Given the description of an element on the screen output the (x, y) to click on. 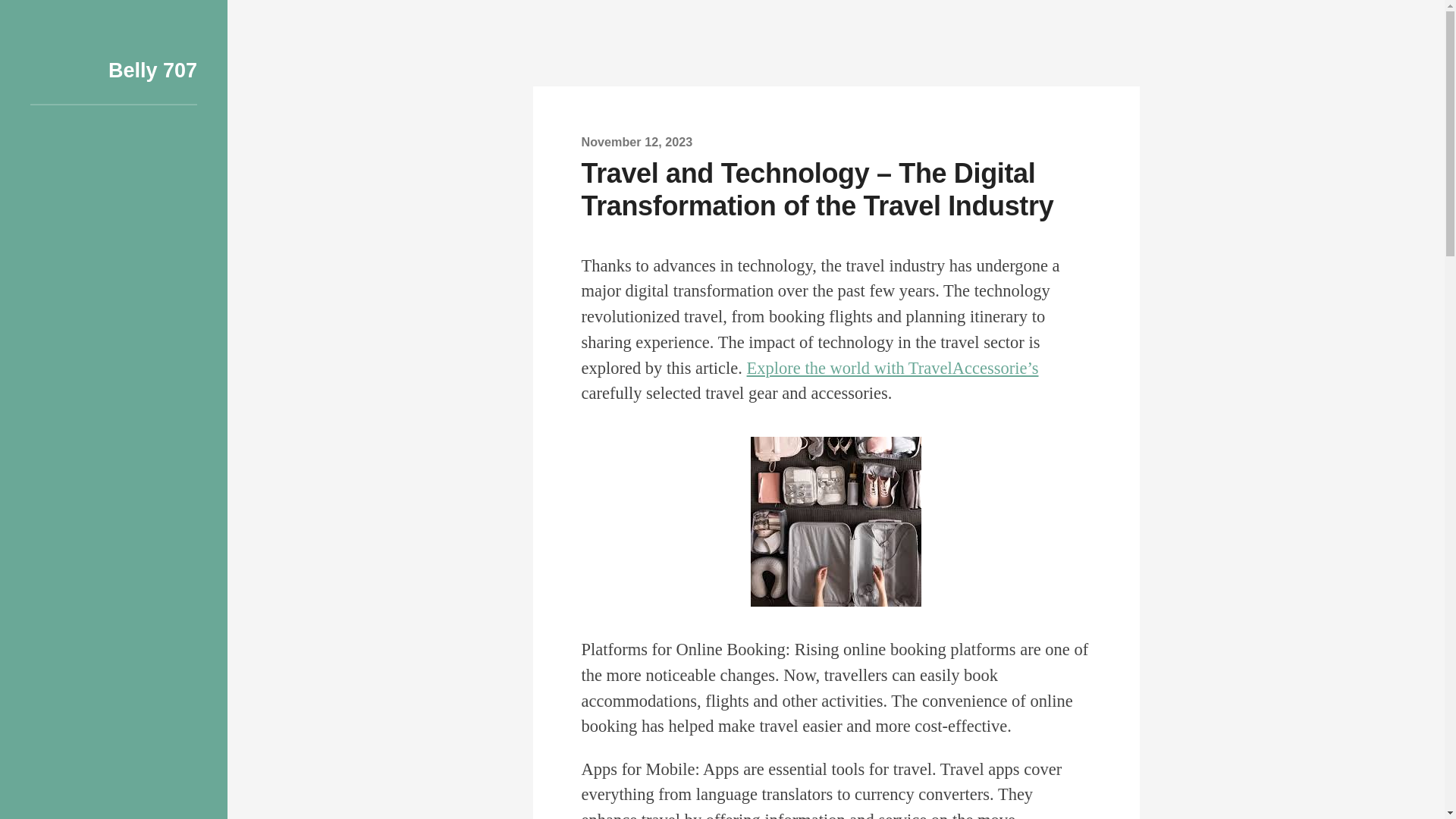
Belly 707 (151, 69)
November 12, 2023 (636, 141)
